Given the description of an element on the screen output the (x, y) to click on. 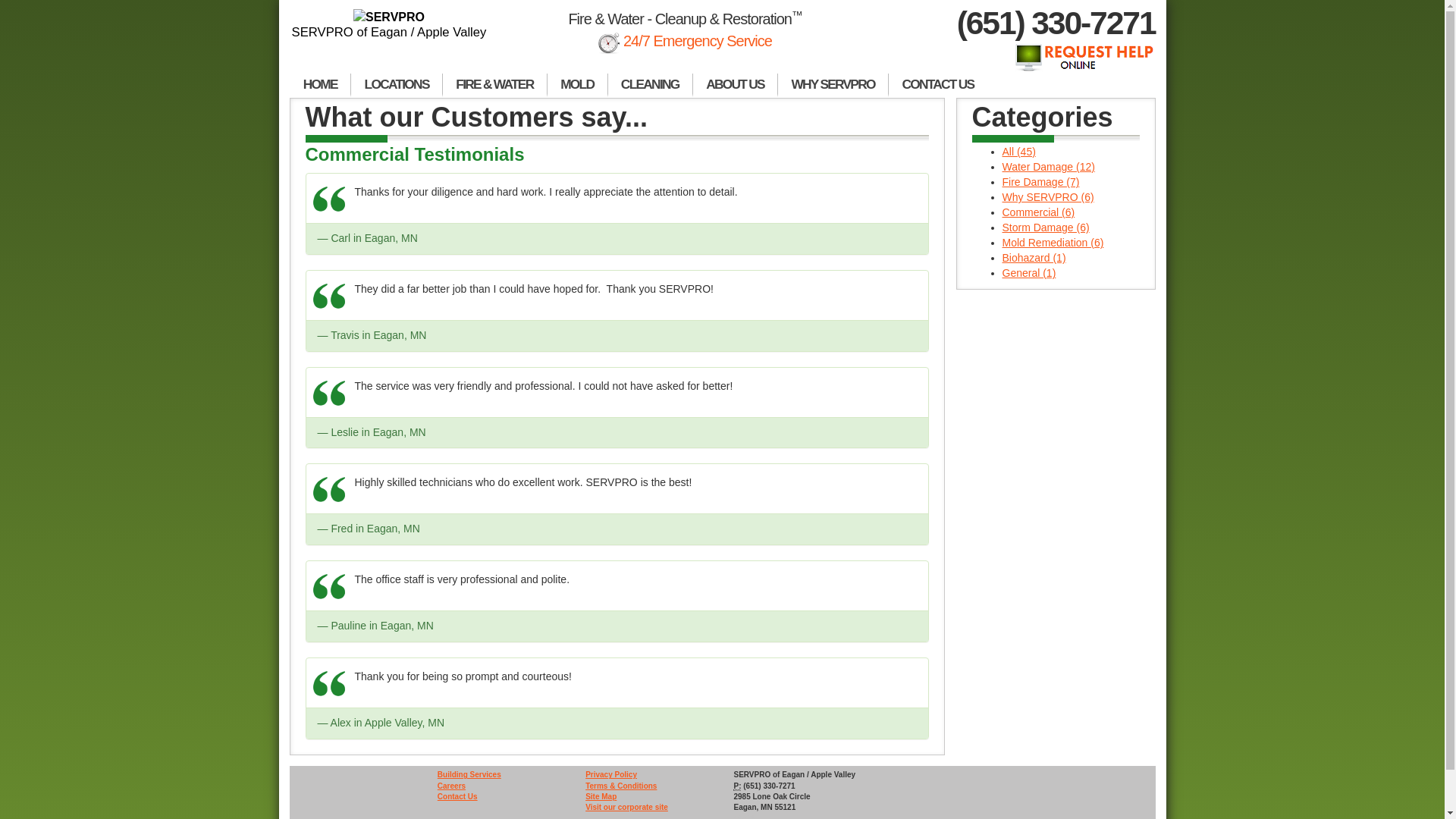
LOCATIONS (396, 85)
ABOUT US (735, 85)
HOME (319, 85)
MOLD (577, 85)
CLEANING (650, 85)
